Given the description of an element on the screen output the (x, y) to click on. 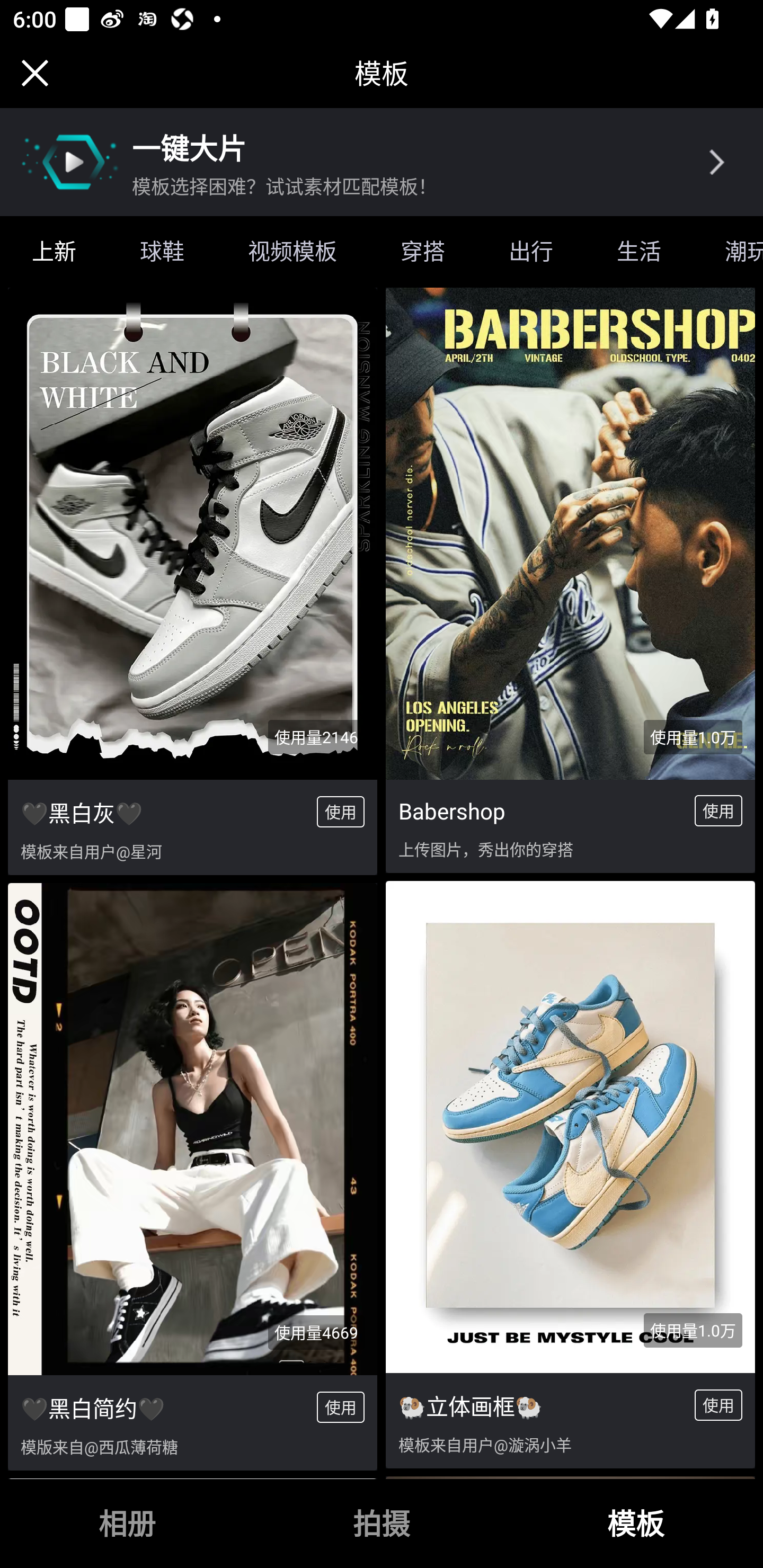
一键大片 模板选择困难？试试素材匹配模板！ (381, 162)
上新 (54, 250)
球鞋 (161, 250)
视频模板 (291, 250)
穿搭 (422, 250)
出行 (530, 250)
生活 (638, 250)
相册 (127, 1523)
拍摄 (381, 1523)
模板 (635, 1523)
